Given the description of an element on the screen output the (x, y) to click on. 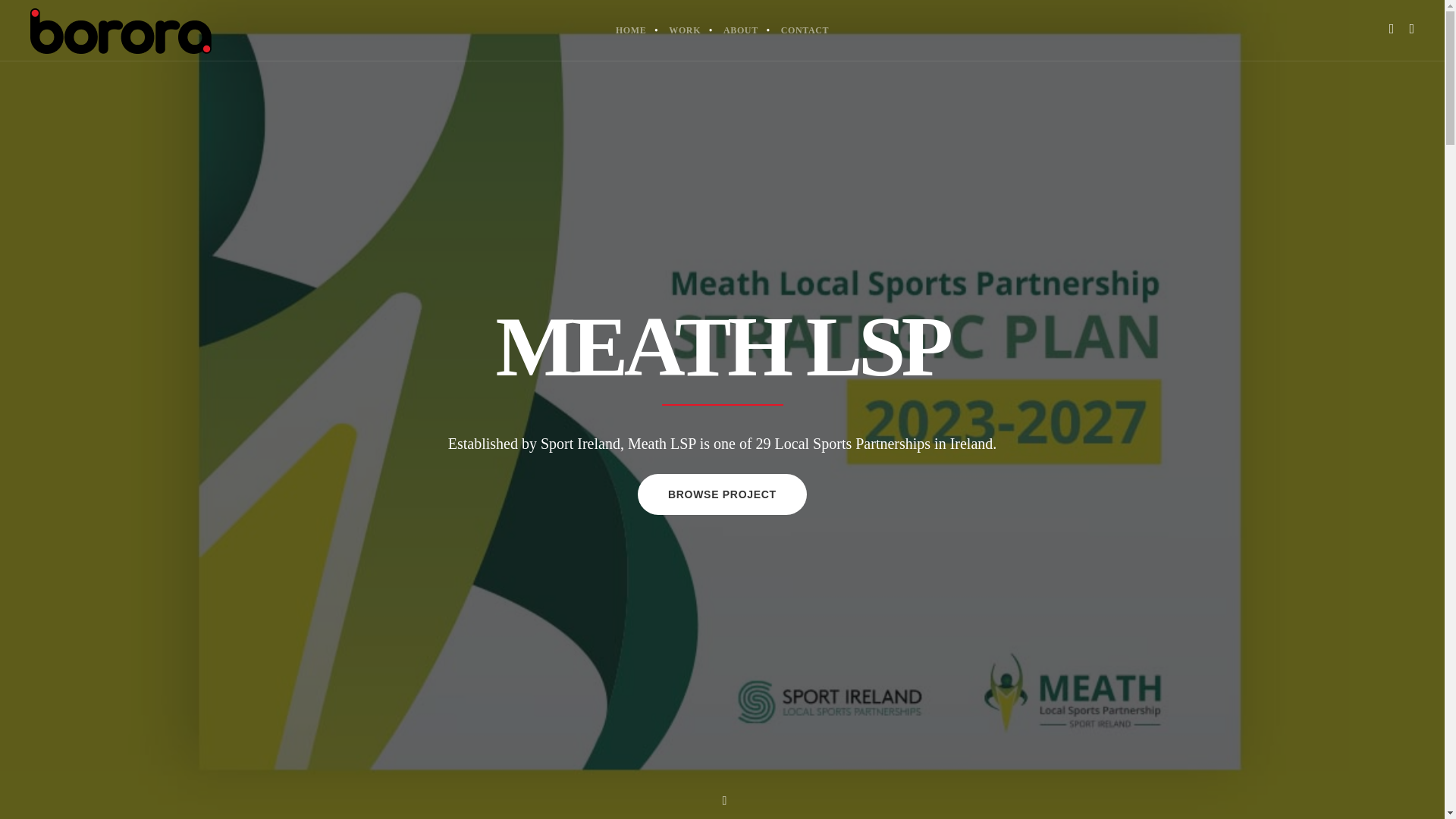
BROWSE PROJECT (721, 496)
WORK (684, 30)
CONTACT (805, 30)
ABOUT (740, 30)
